Given the description of an element on the screen output the (x, y) to click on. 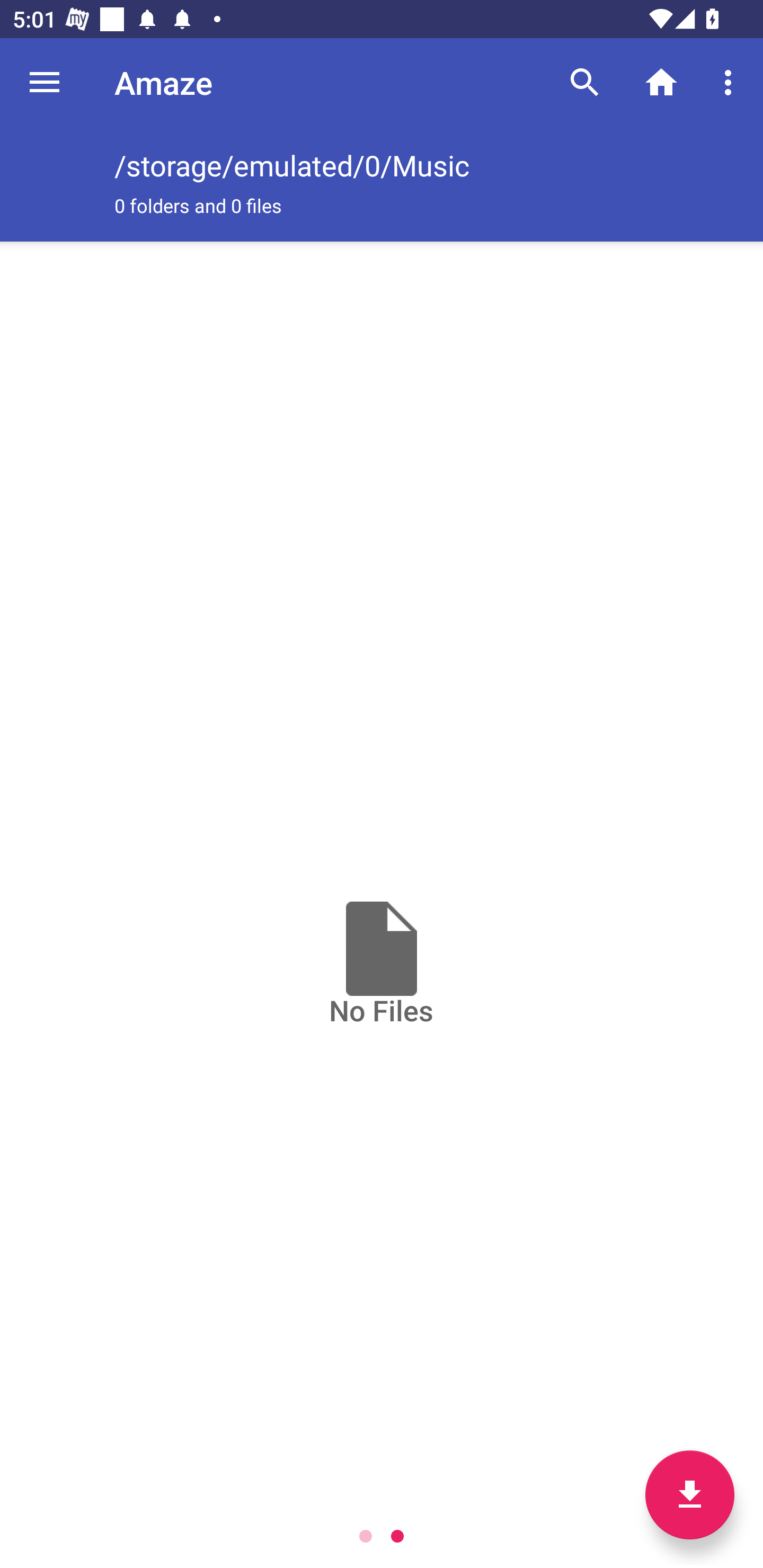
Navigate up (44, 82)
Search (585, 81)
Home (661, 81)
More options (731, 81)
